Given the description of an element on the screen output the (x, y) to click on. 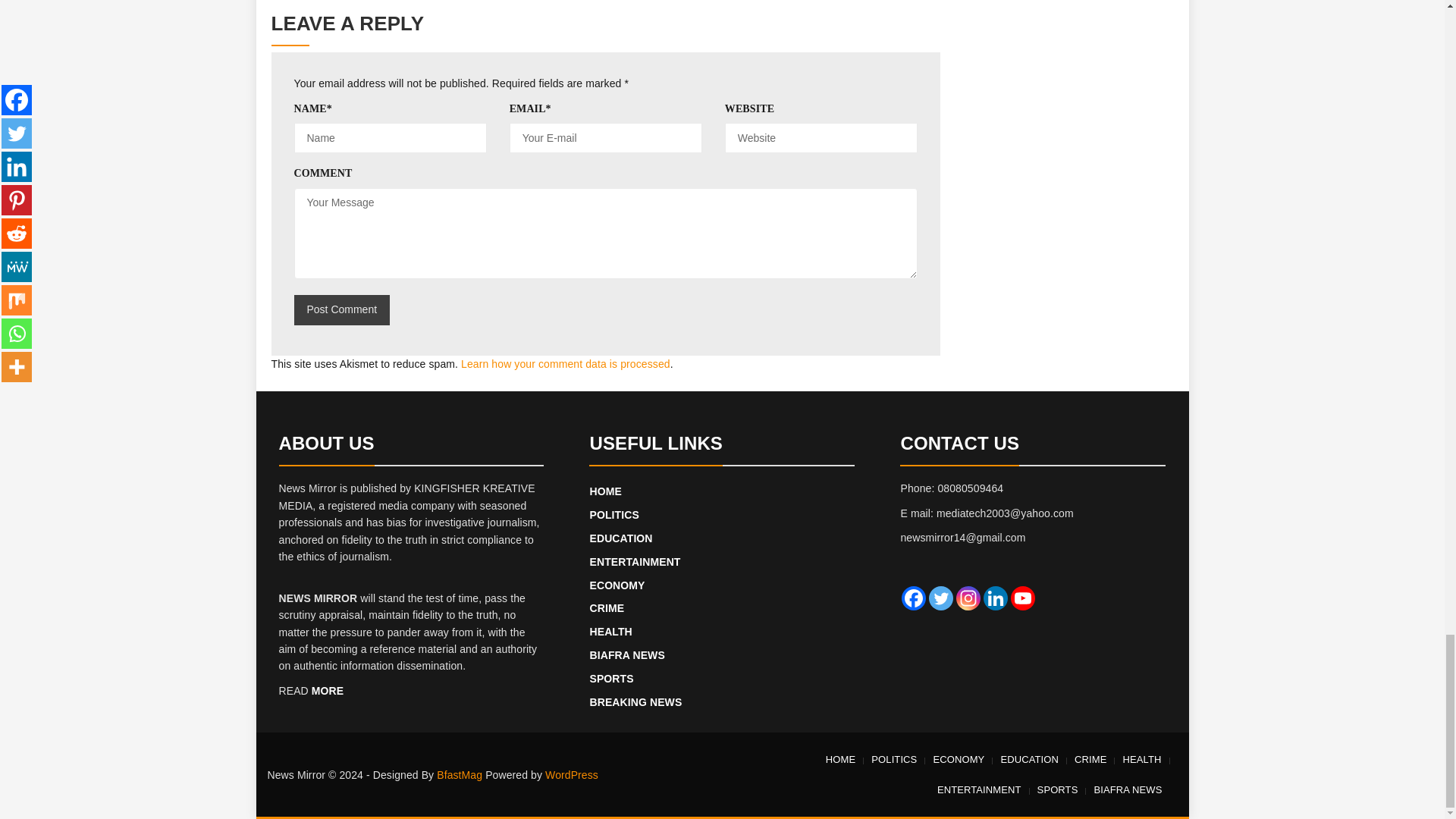
Post Comment (342, 309)
